Given the description of an element on the screen output the (x, y) to click on. 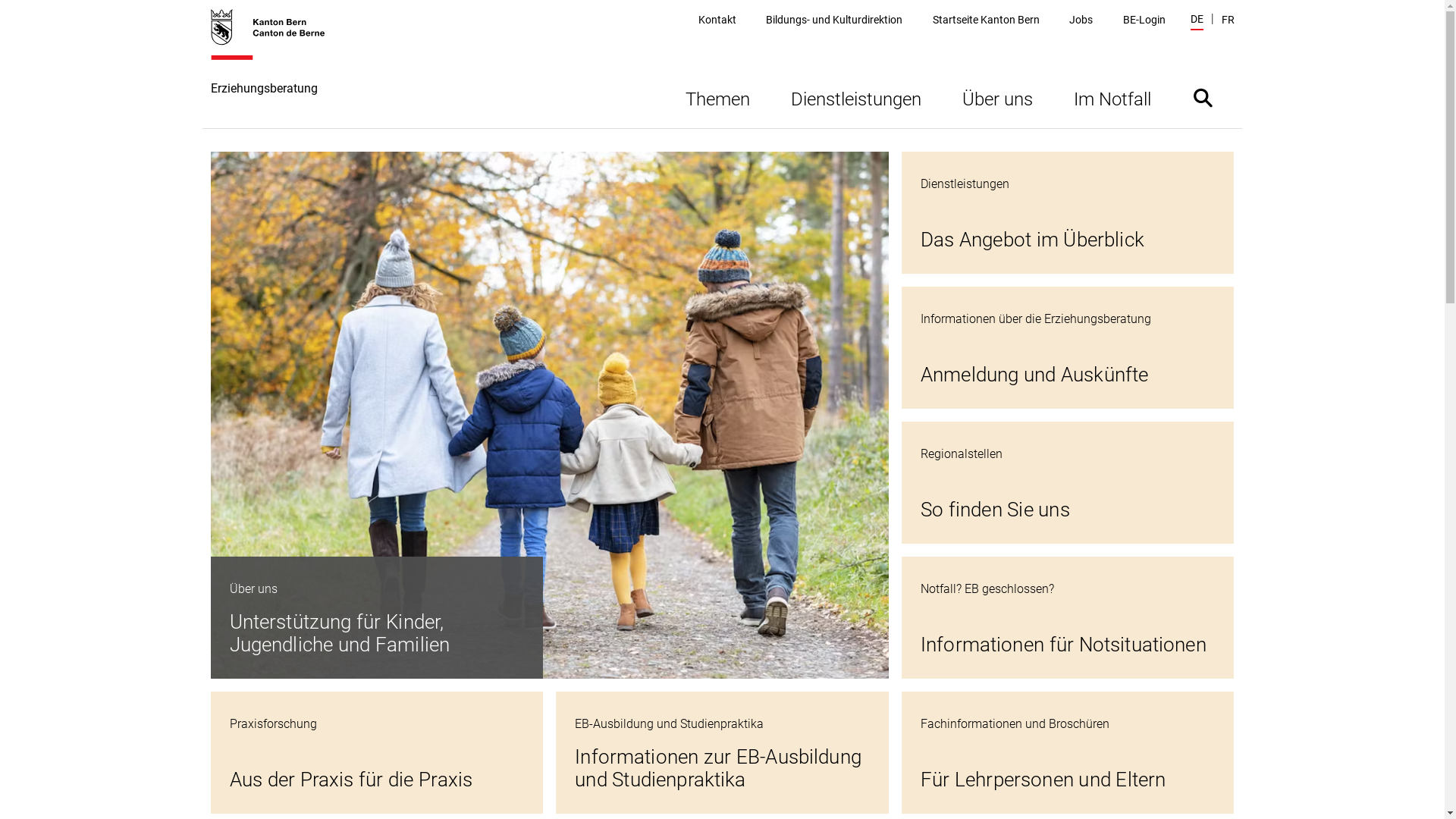
Startseite Kanton Bern Element type: text (985, 19)
Suche ein- oder ausblenden Element type: text (1201, 96)
FR Element type: text (1226, 19)
Bildungs- und Kulturdirektion Element type: text (833, 19)
DE Element type: text (1196, 21)
Themen Element type: text (716, 96)
Kontakt Element type: text (717, 19)
Im Notfall Element type: text (1111, 96)
Jobs Element type: text (1080, 19)
So finden Sie uns
Regionalstellen Element type: text (1067, 482)
Dienstleistungen Element type: text (855, 96)
Erziehungsberatung Element type: text (275, 68)
BE-Login Element type: text (1144, 19)
